Given the description of an element on the screen output the (x, y) to click on. 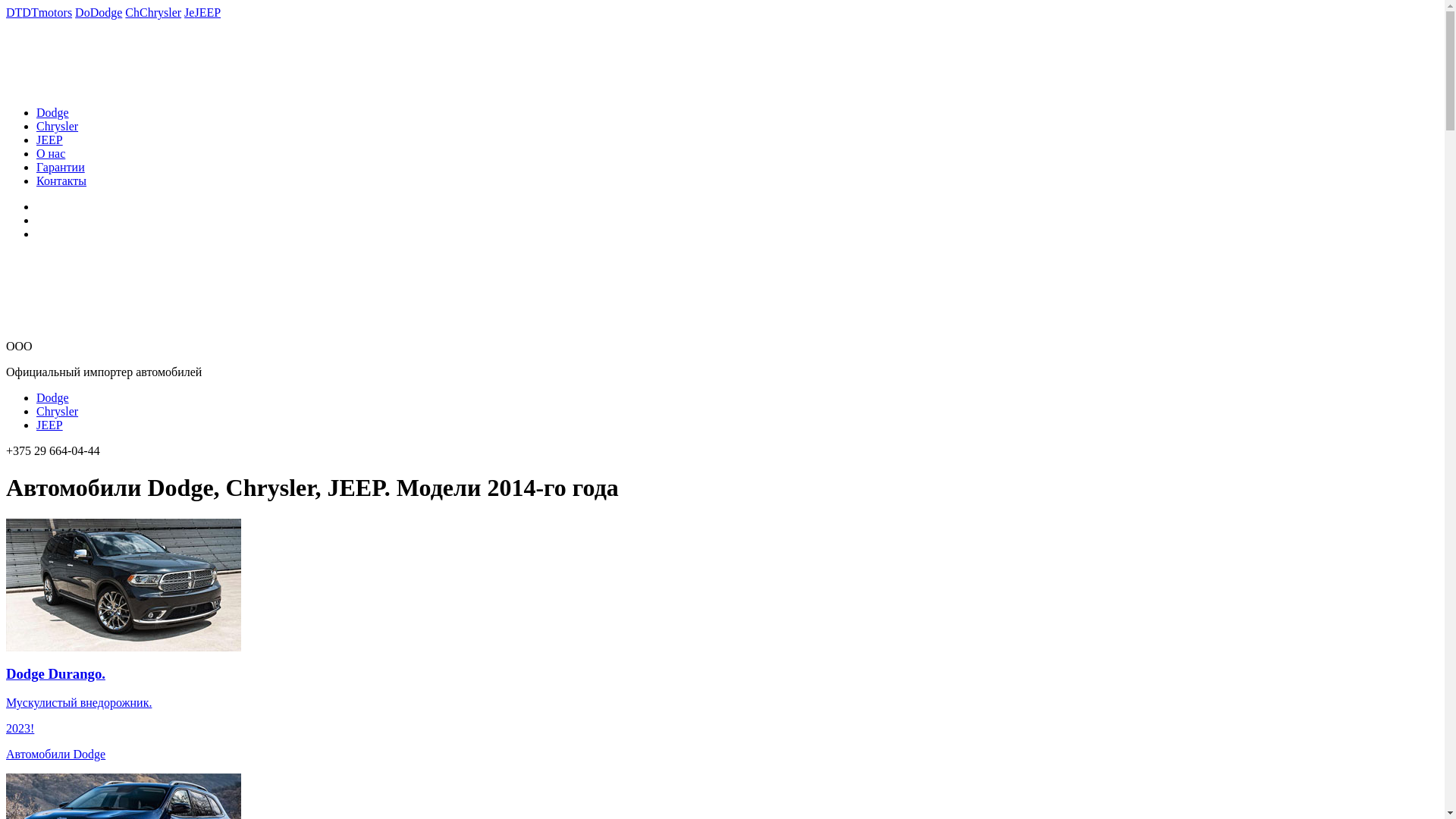
Chrysler Element type: text (57, 125)
JEEP Element type: text (49, 424)
DTDTmotors Element type: text (39, 12)
JEEP Element type: text (49, 139)
Dodge Element type: text (52, 397)
Dodge Element type: text (52, 112)
JeJEEP Element type: text (202, 12)
Chrysler Element type: text (57, 410)
ChChrysler Element type: text (153, 12)
DoDodge Element type: text (98, 12)
